Given the description of an element on the screen output the (x, y) to click on. 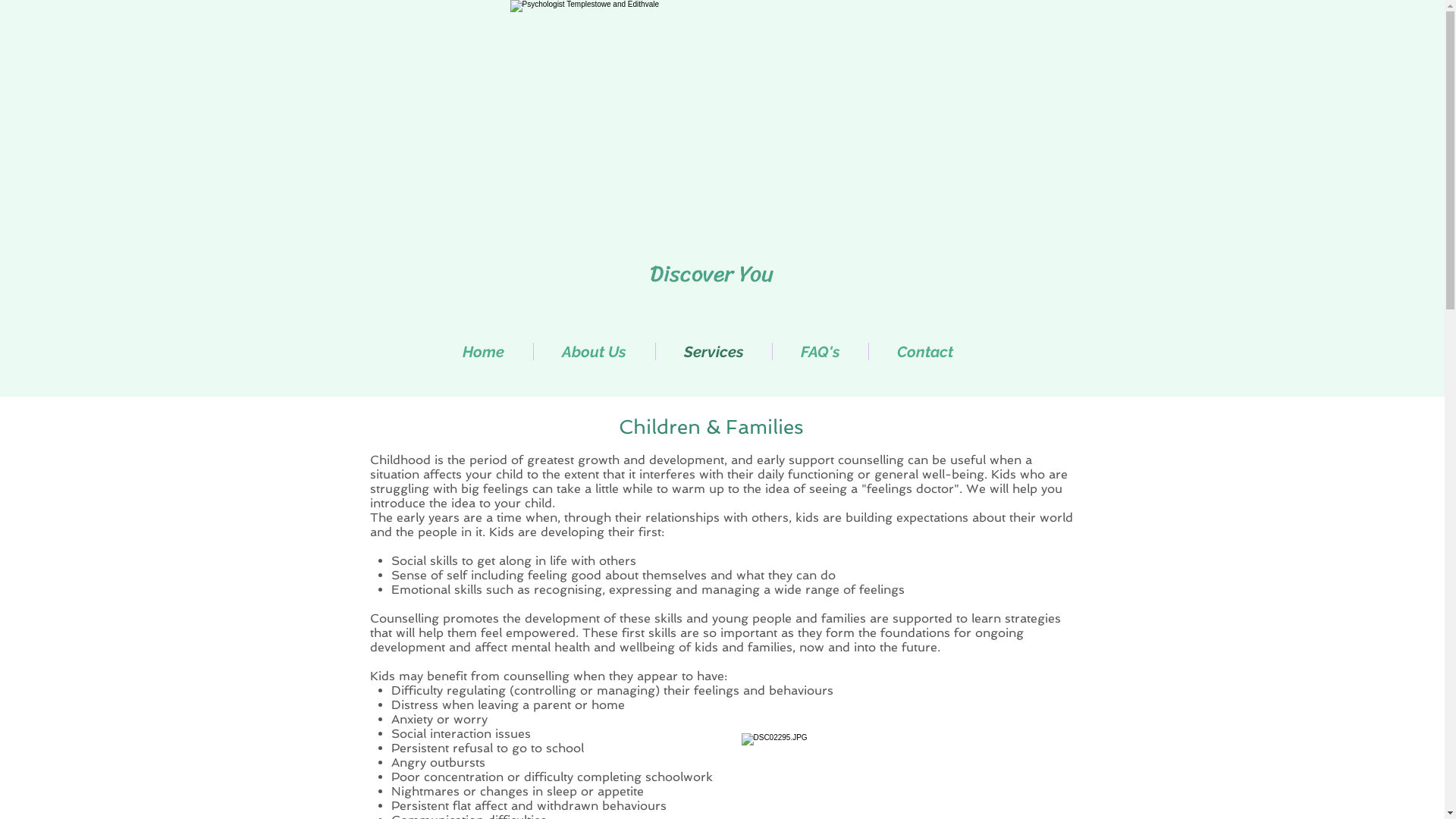
Services Element type: text (713, 351)
Home Element type: text (482, 351)
FAQ's Element type: text (819, 351)
Contact Element type: text (925, 351)
About Us Element type: text (594, 351)
